Given the description of an element on the screen output the (x, y) to click on. 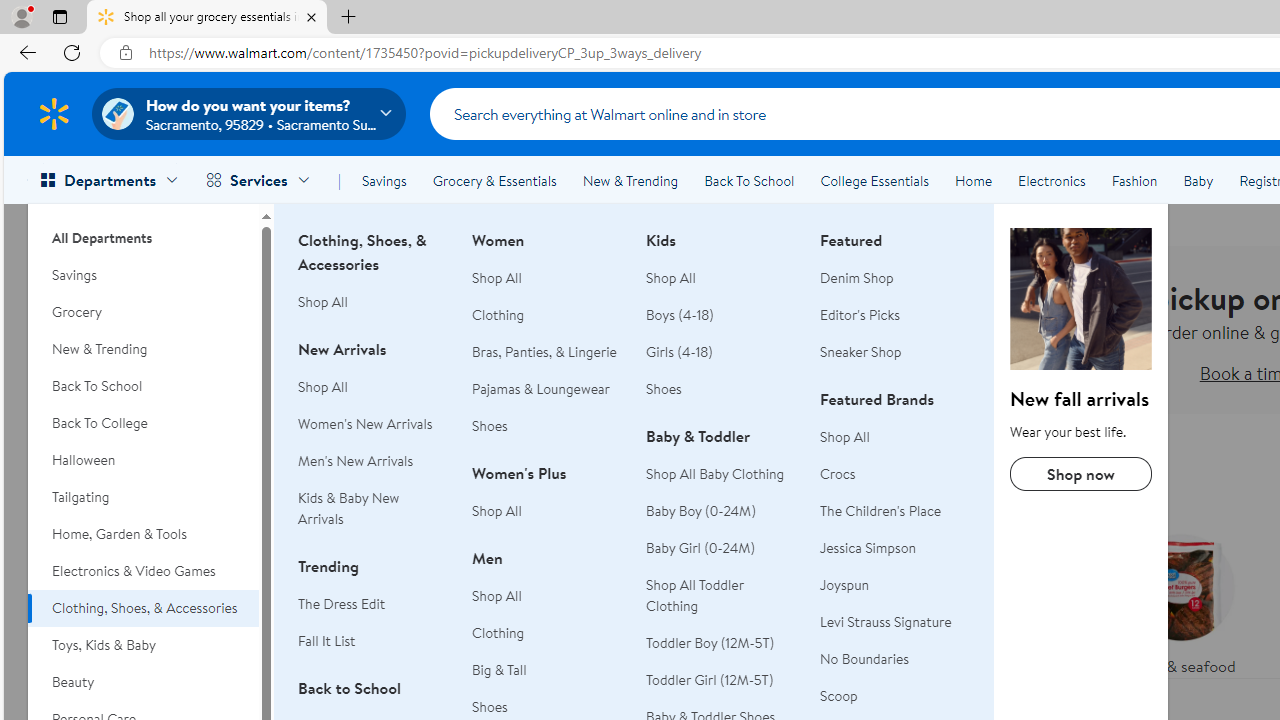
Girls (4-18) (679, 352)
The Dress Edit (373, 604)
New & Trending (143, 349)
Fall It List (326, 640)
Girls (4-18) (721, 352)
Joyspun (895, 585)
Savings (384, 180)
Levi Strauss Signature (895, 622)
Shop All (895, 436)
Beauty (143, 682)
Halloween (143, 460)
